Given the description of an element on the screen output the (x, y) to click on. 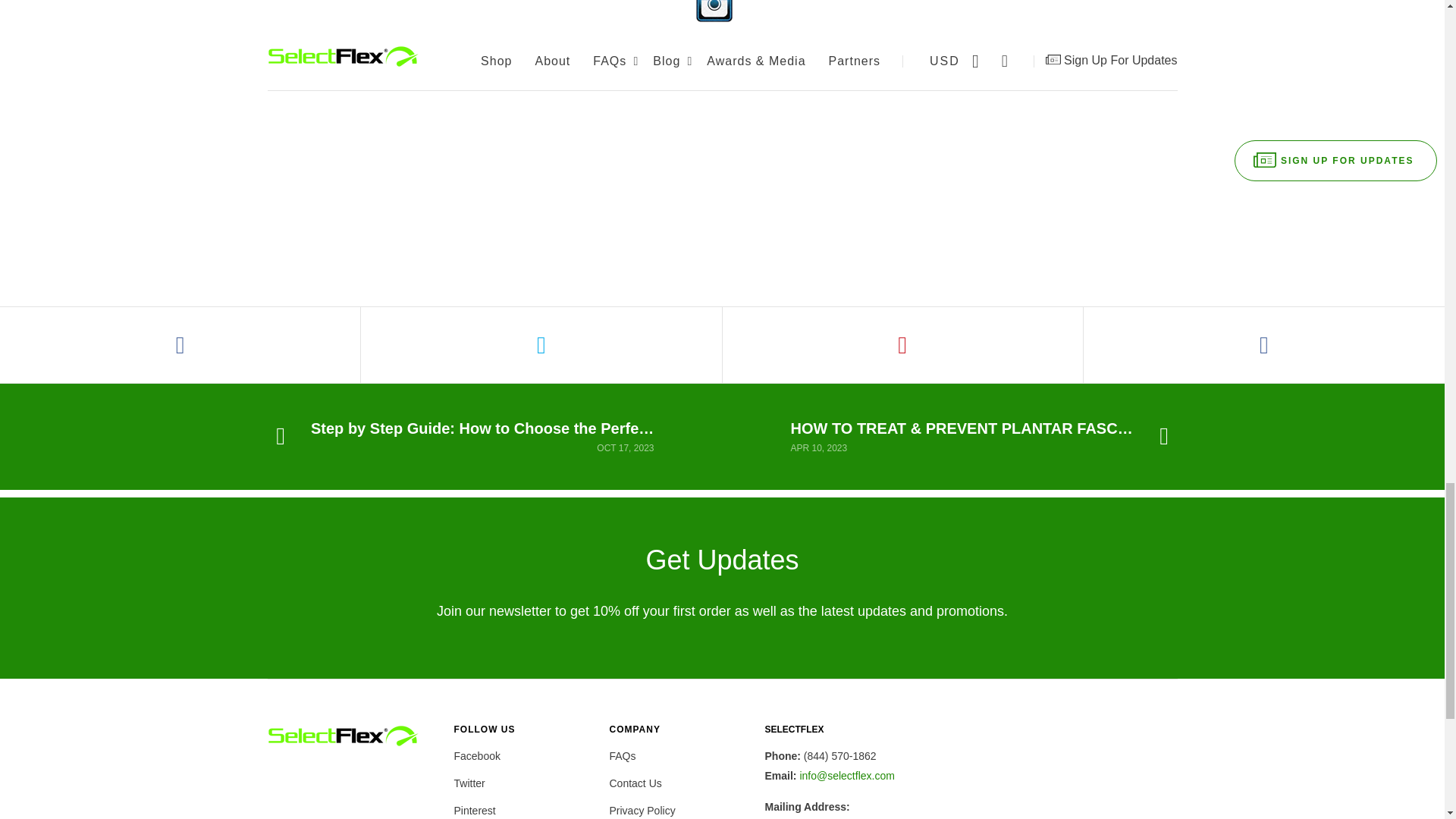
Pinterest (473, 809)
Facebook (475, 755)
Twitter (468, 783)
